Given the description of an element on the screen output the (x, y) to click on. 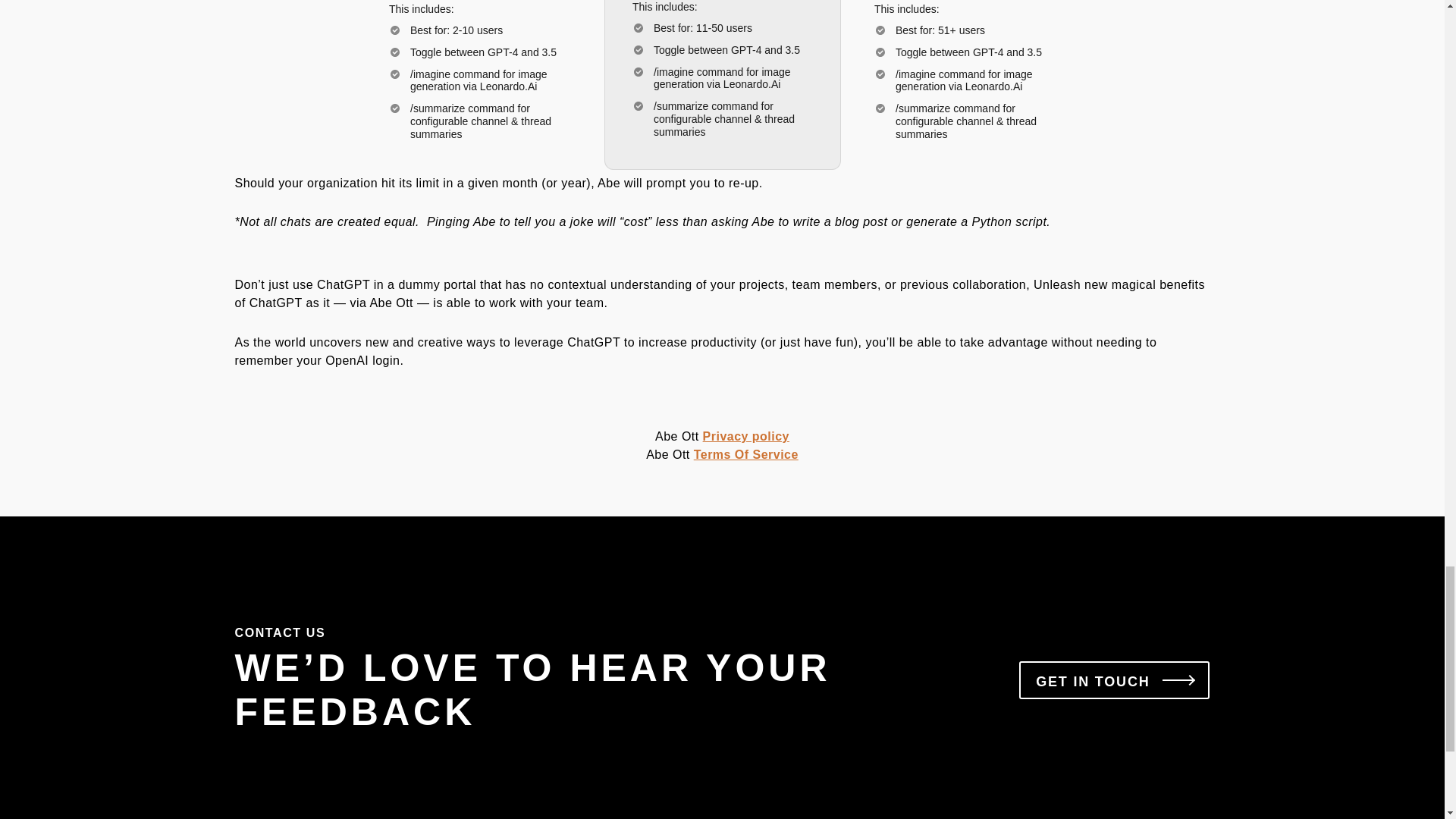
GET IN TOUCH (1114, 679)
Terms Of Service (745, 454)
Privacy policy (746, 436)
